Given the description of an element on the screen output the (x, y) to click on. 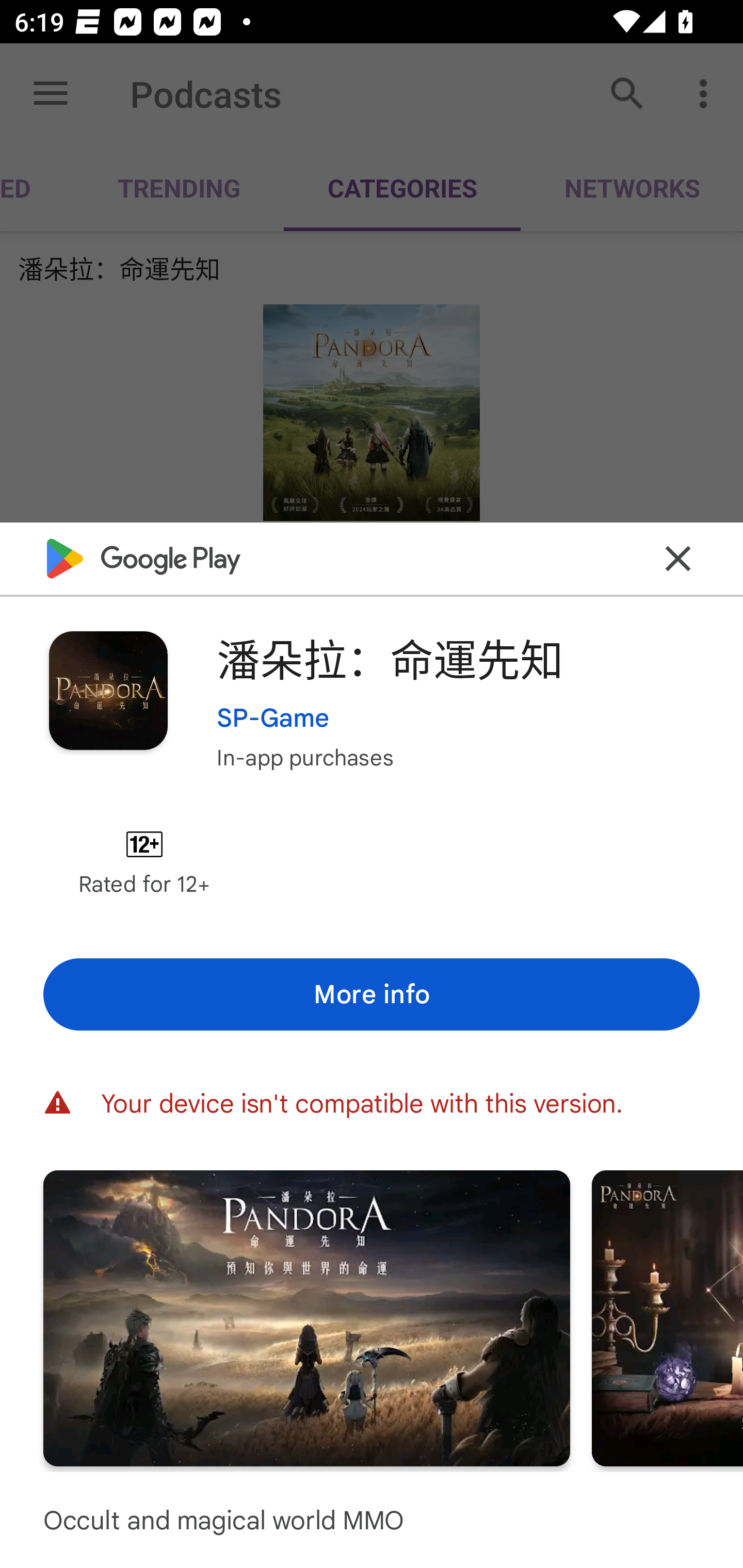
Close (677, 558)
Image of app or game icon for 潘朵拉：命運先知 (108, 690)
SP-Game (272, 716)
More info (371, 994)
Screenshot "1" of "6" (306, 1317)
Screenshot "2" of "6" (667, 1317)
